Given the description of an element on the screen output the (x, y) to click on. 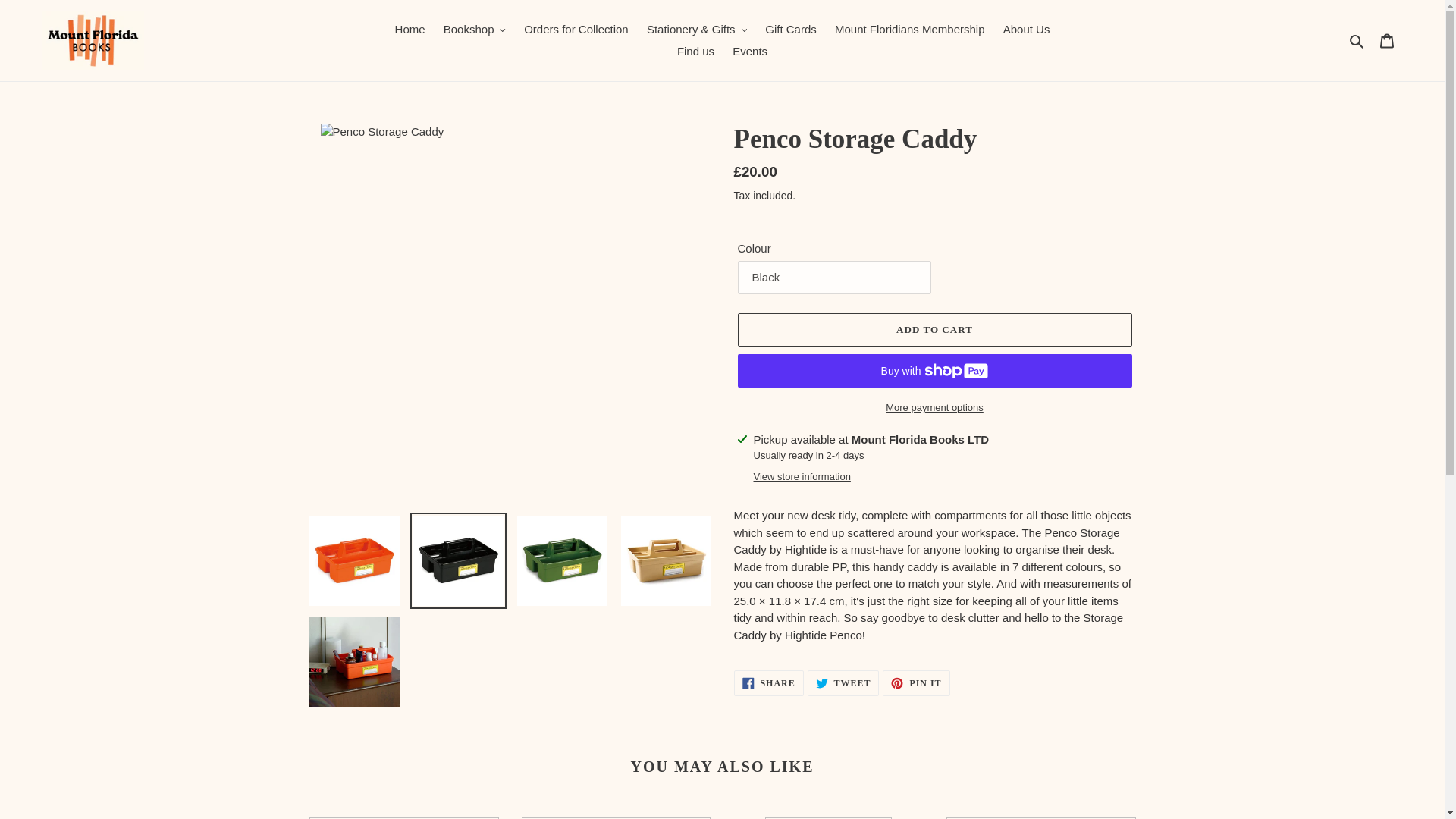
Bookshop (474, 29)
Orders for Collection (576, 29)
Home (409, 29)
